Given the description of an element on the screen output the (x, y) to click on. 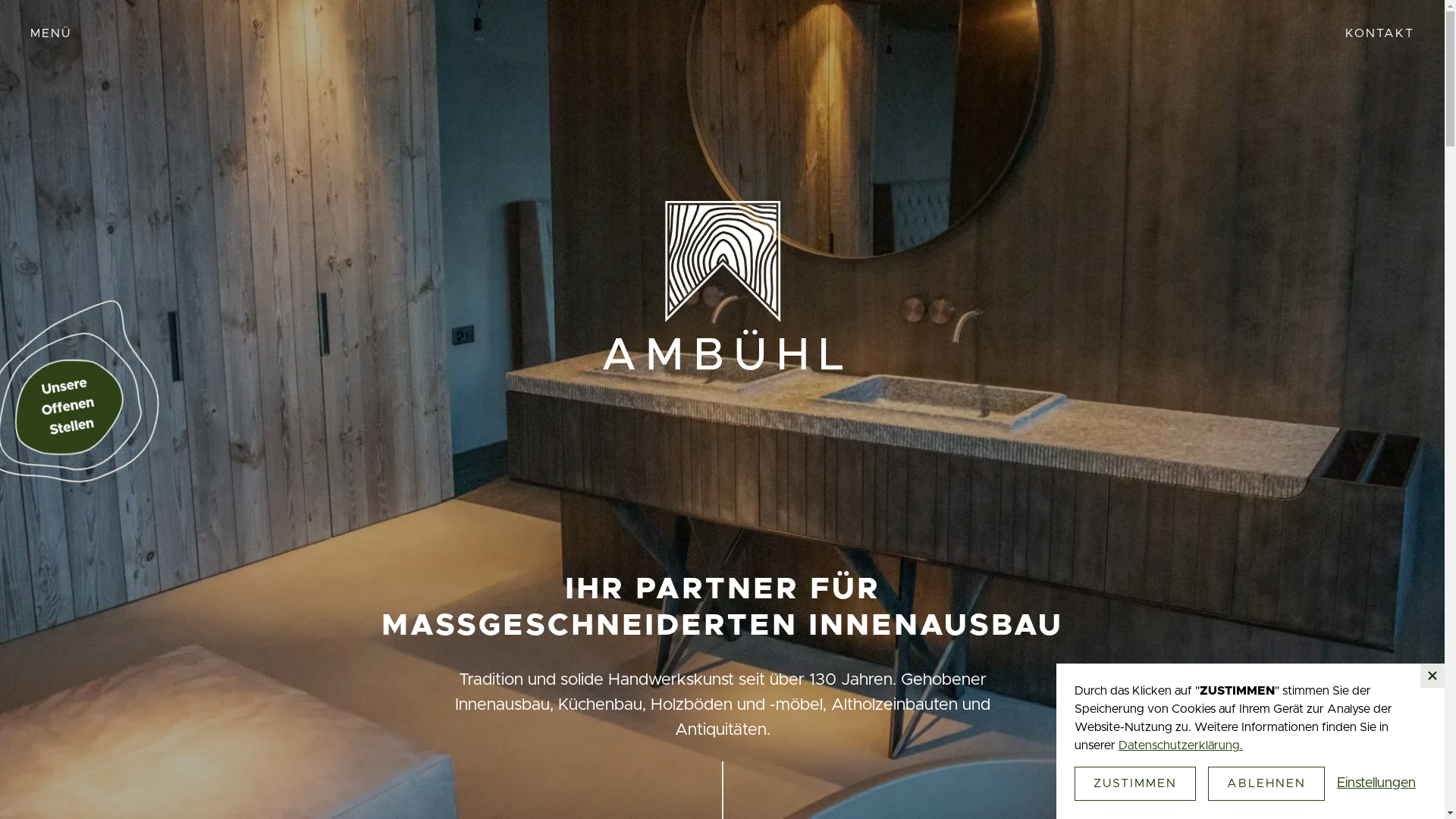
ZUSTIMMEN Element type: text (1134, 783)
Einstellungen Element type: text (1375, 783)
KONTAKT Element type: text (1379, 33)
ABLEHNEN Element type: text (1266, 783)
